Given the description of an element on the screen output the (x, y) to click on. 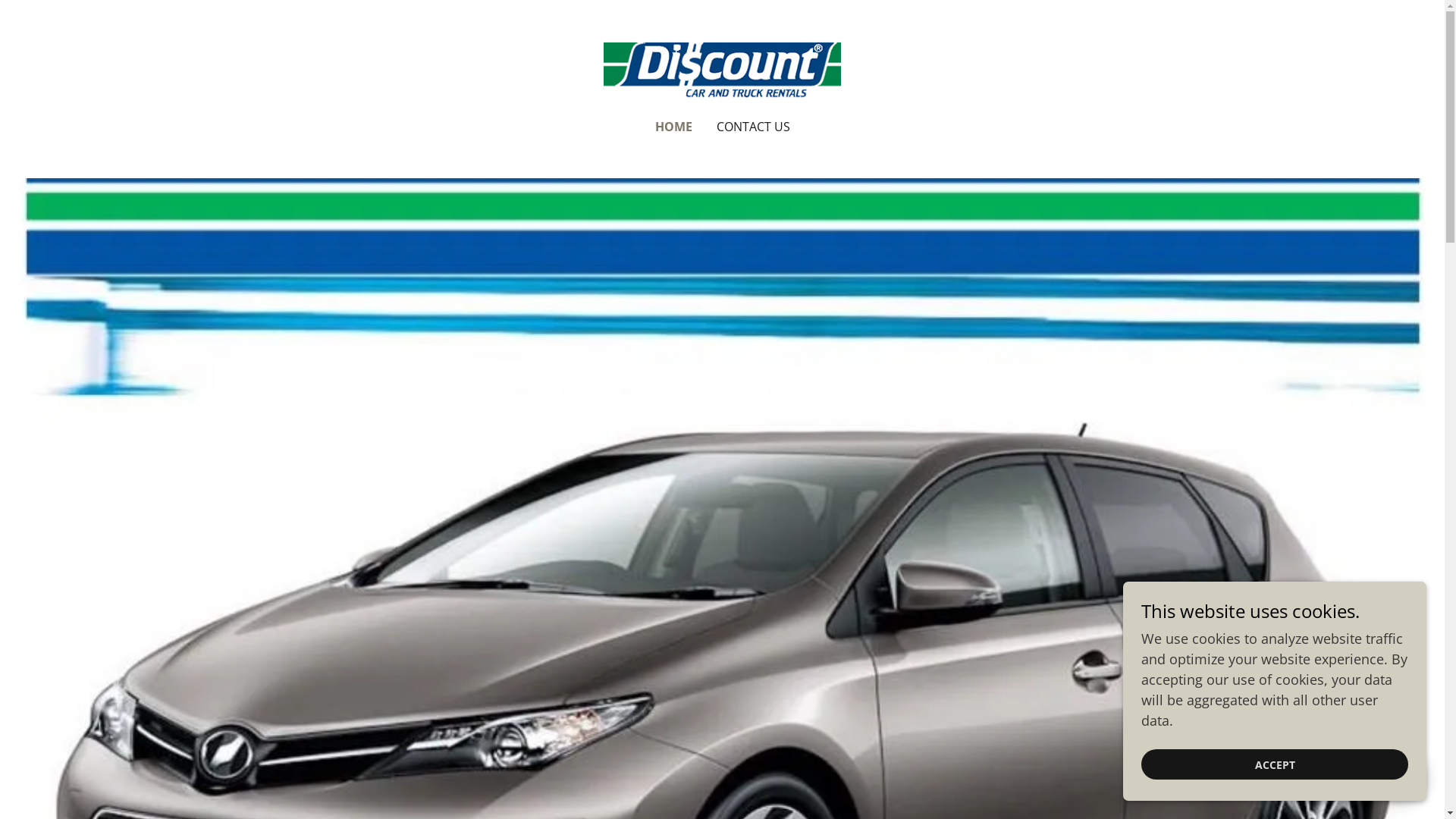
HOME Element type: text (673, 126)
Discount Car & Truck Rental Element type: hover (721, 68)
ACCEPT Element type: text (1274, 764)
CONTACT US Element type: text (752, 126)
